Given the description of an element on the screen output the (x, y) to click on. 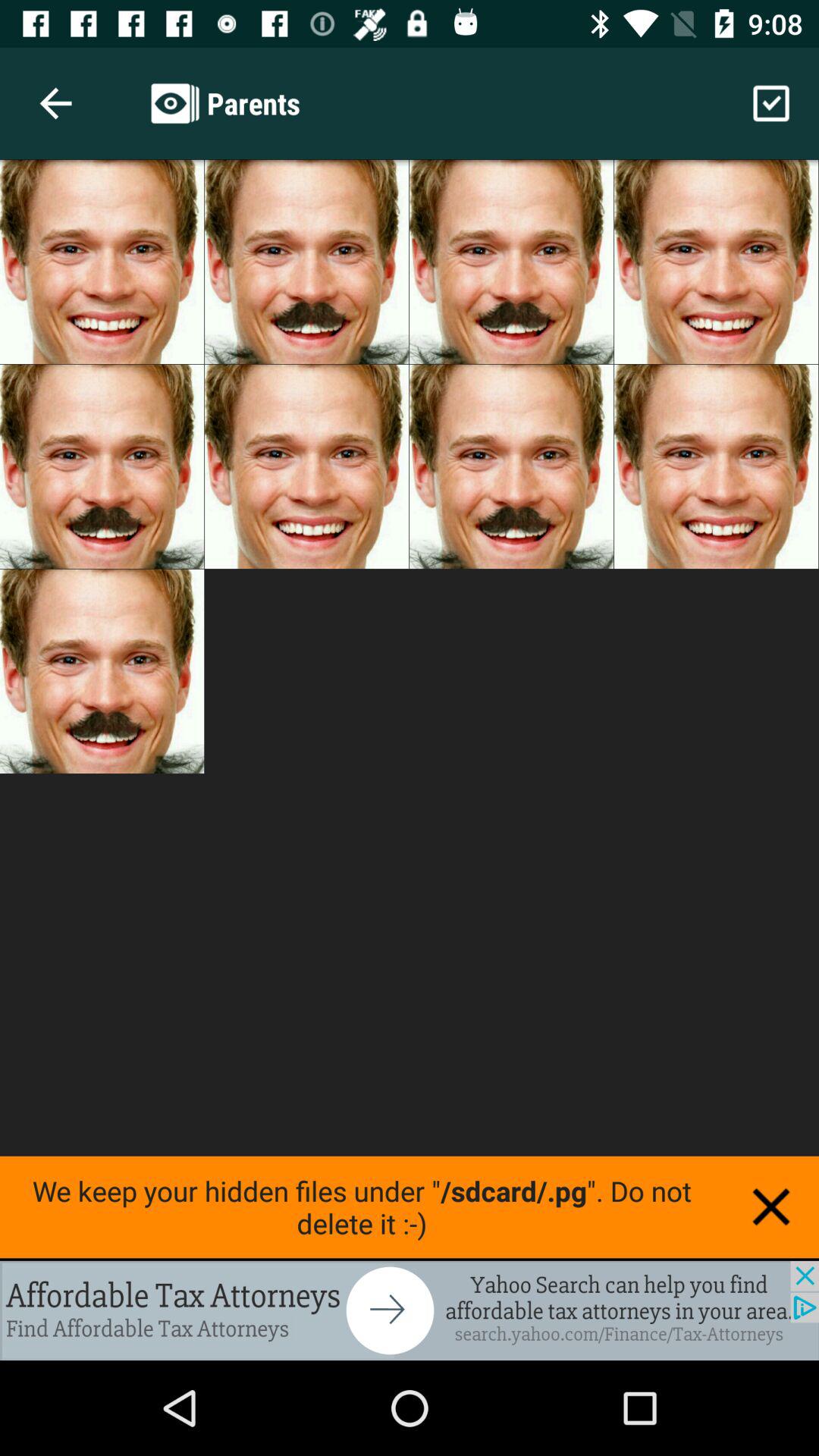
exit notification (771, 1206)
